Given the description of an element on the screen output the (x, y) to click on. 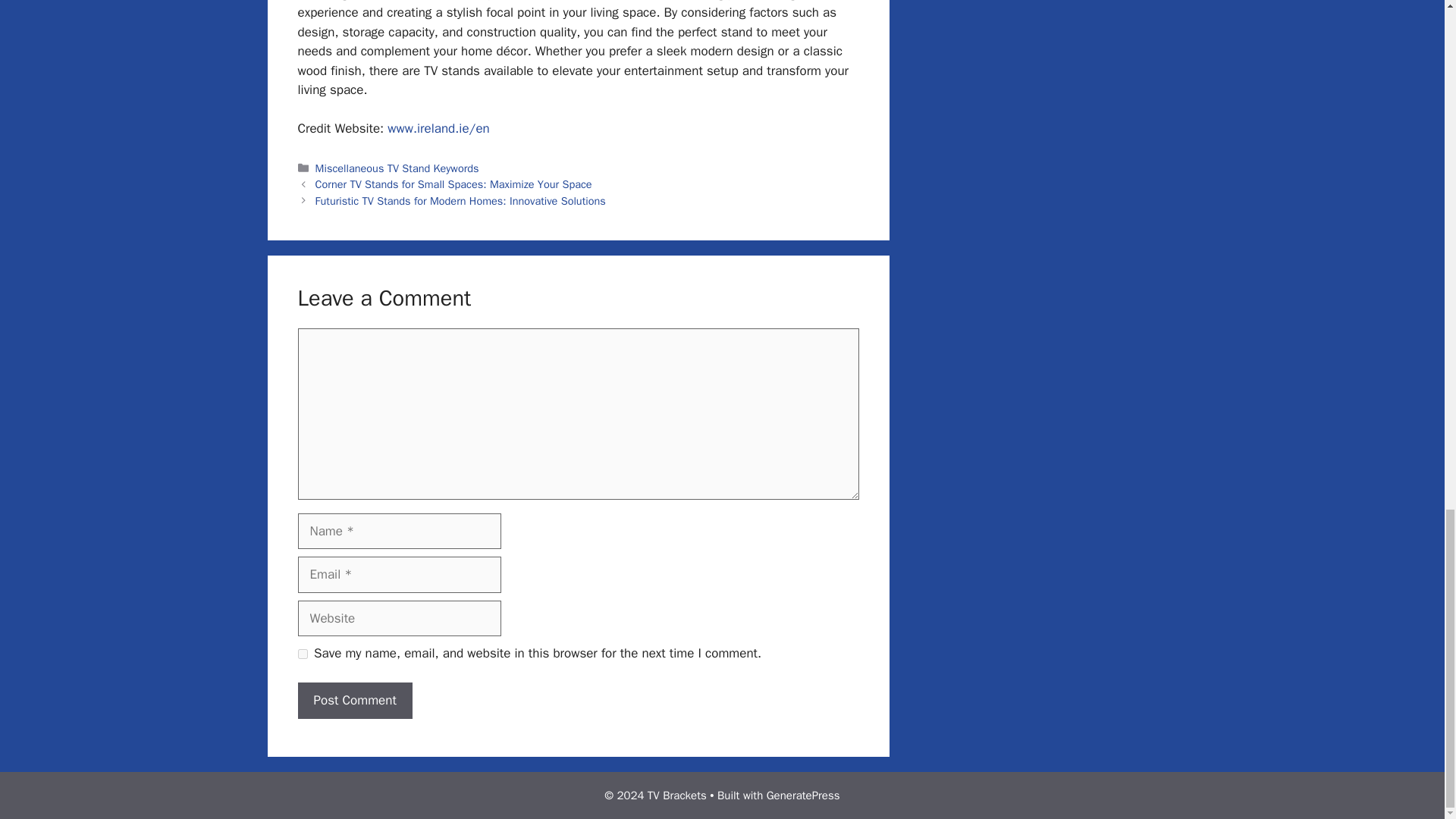
Corner TV Stands for Small Spaces: Maximize Your Space (453, 183)
Futuristic TV Stands for Modern Homes: Innovative Solutions (460, 201)
Post Comment (354, 700)
Miscellaneous TV Stand Keywords (397, 168)
yes (302, 654)
Post Comment (354, 700)
GeneratePress (803, 795)
